Given the description of an element on the screen output the (x, y) to click on. 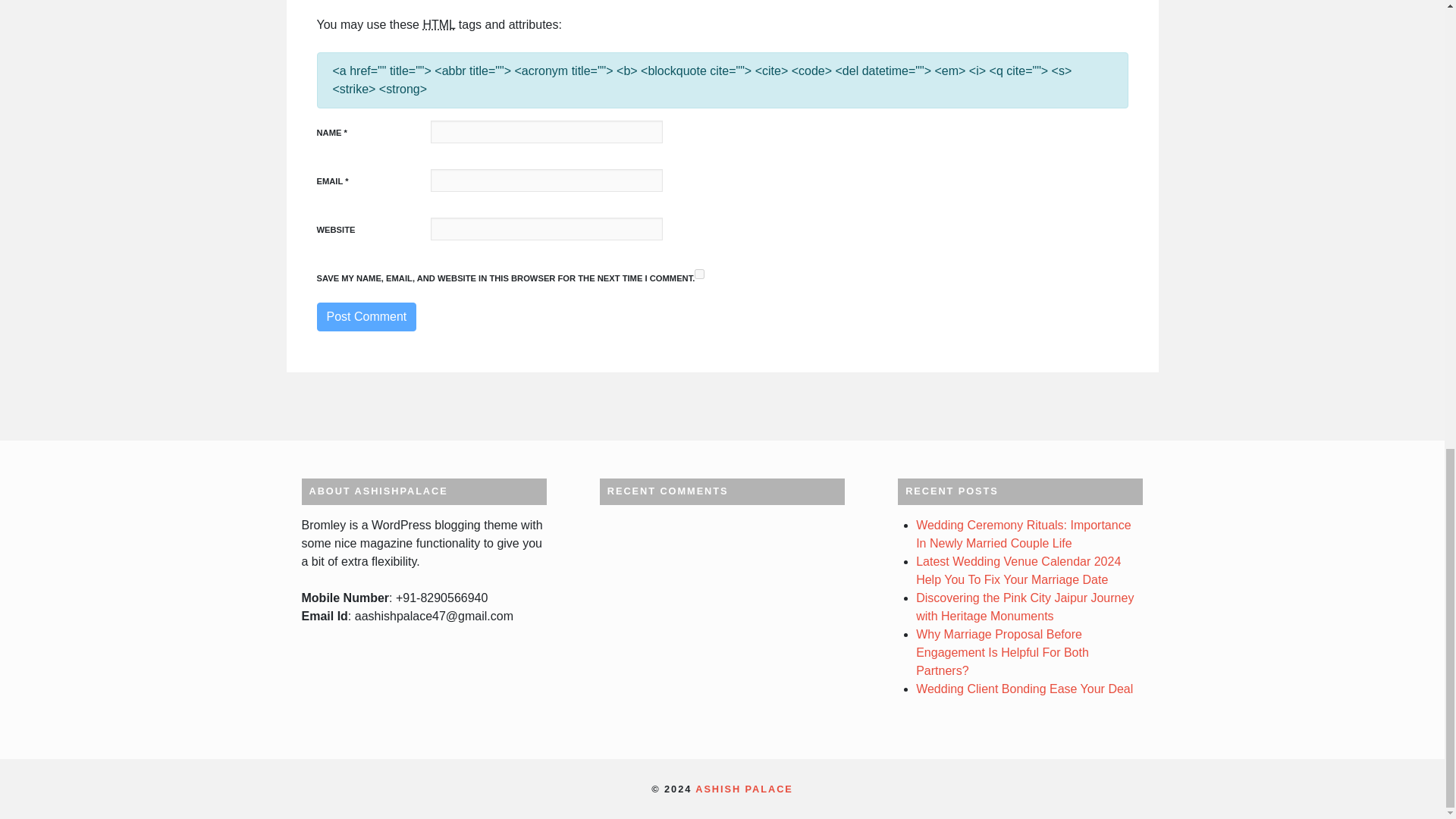
yes (699, 274)
Post Comment (366, 316)
HyperText Markup Language (438, 24)
Wedding Client Bonding Ease Your Deal (1028, 689)
ASHISH PALACE (744, 788)
Post Comment (366, 316)
